Given the description of an element on the screen output the (x, y) to click on. 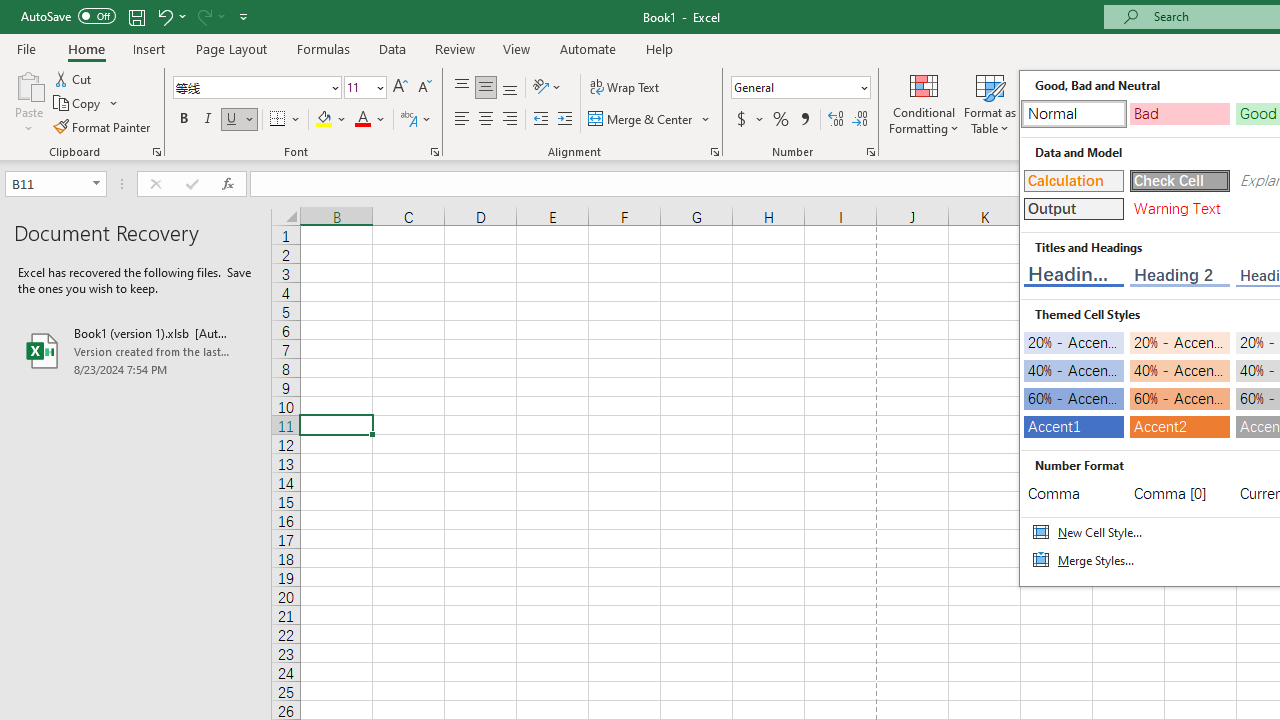
Fill Color RGB(255, 255, 0) (324, 119)
Format Cell Font (434, 151)
Bottom Border (278, 119)
Paste (28, 84)
Format Cell Alignment (714, 151)
Font (250, 87)
Decrease Font Size (424, 87)
Copy (78, 103)
Number Format (794, 87)
Conditional Formatting (924, 102)
Top Align (461, 87)
Number Format (800, 87)
